Given the description of an element on the screen output the (x, y) to click on. 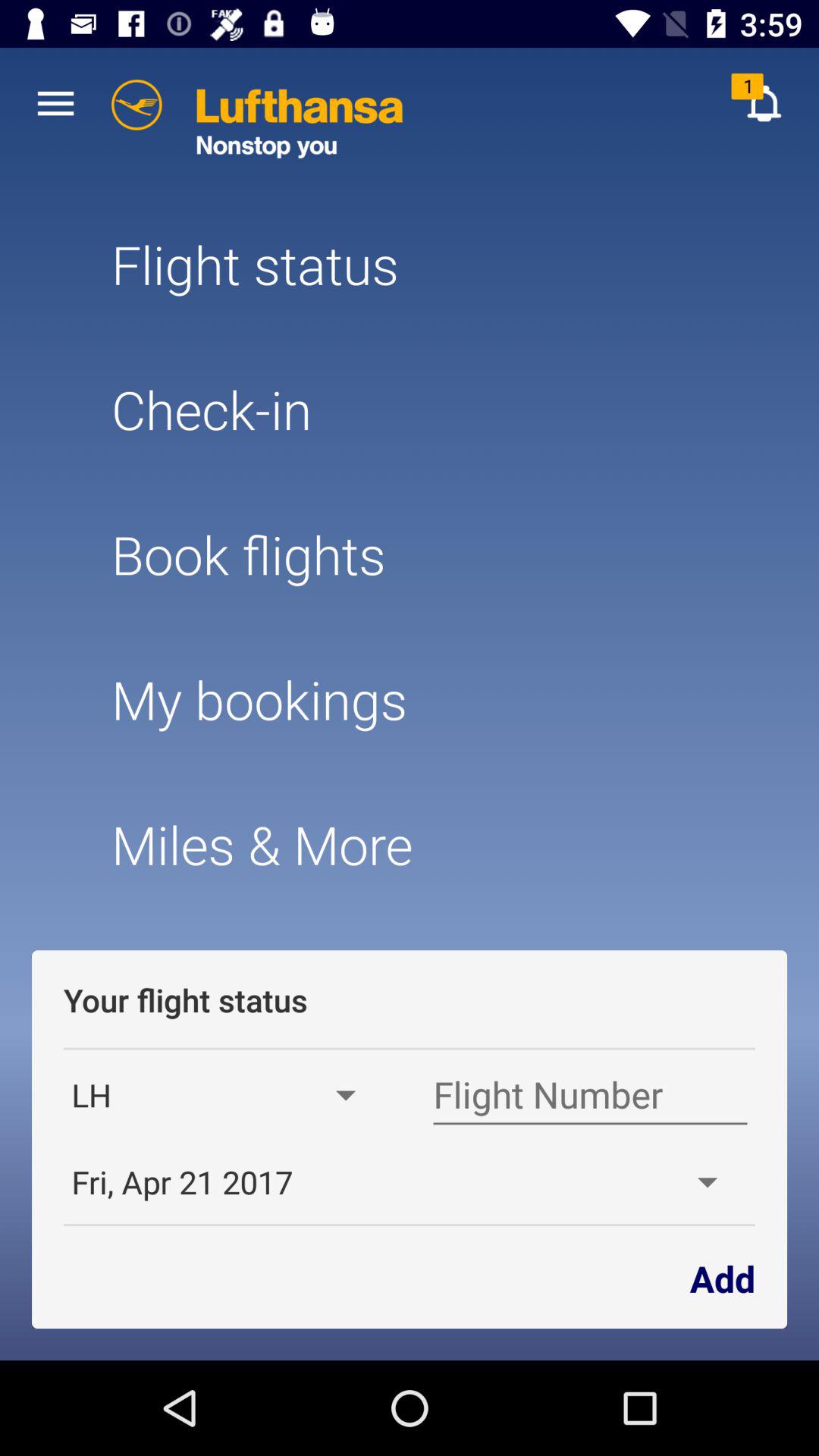
turn on item above the flight status item (55, 103)
